Given the description of an element on the screen output the (x, y) to click on. 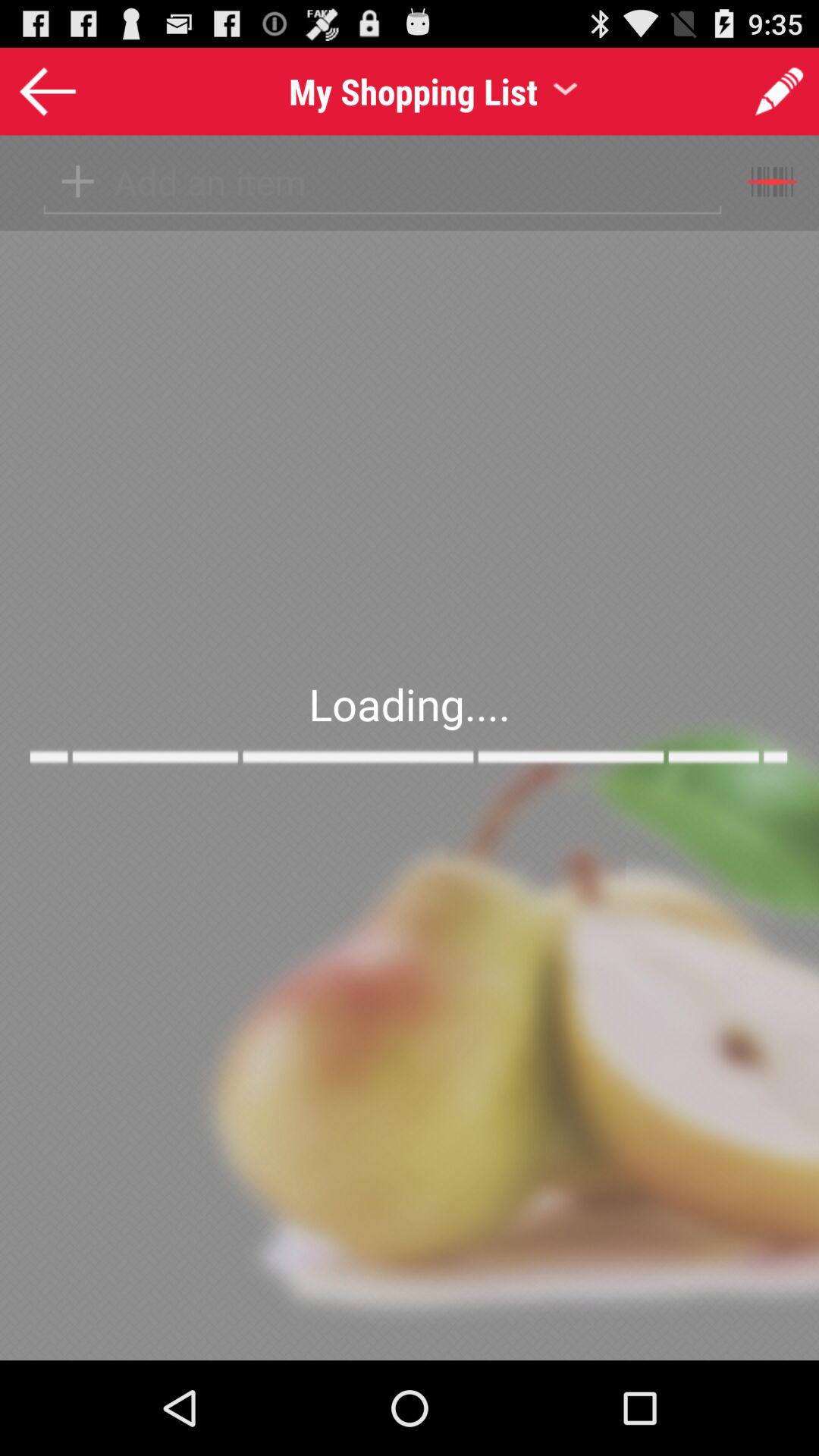
click on the button at the top left of the page (47, 90)
